Given the description of an element on the screen output the (x, y) to click on. 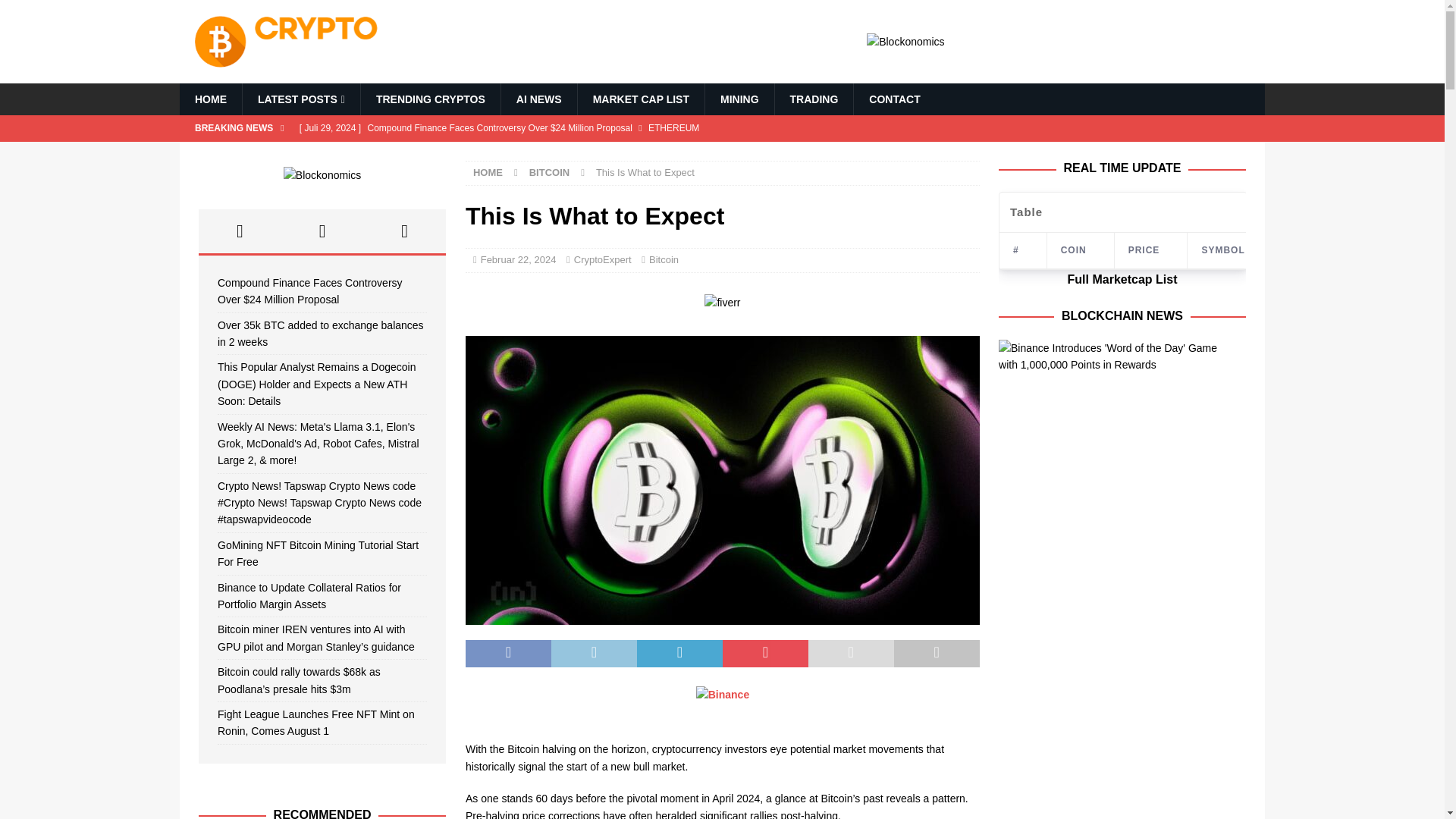
Over 35k BTC added to exchange balances in 2 weeks (589, 153)
HOME (487, 172)
MARKET CAP LIST (640, 99)
HOME (210, 99)
CryptoExpert (602, 259)
CONTACT (893, 99)
Februar 22, 2024 (518, 259)
LATEST POSTS (300, 99)
Bitcoin (663, 259)
MINING (739, 99)
AI NEWS (538, 99)
TRENDING CRYPTOS (429, 99)
TRADING (813, 99)
BITCOIN (549, 172)
